Given the description of an element on the screen output the (x, y) to click on. 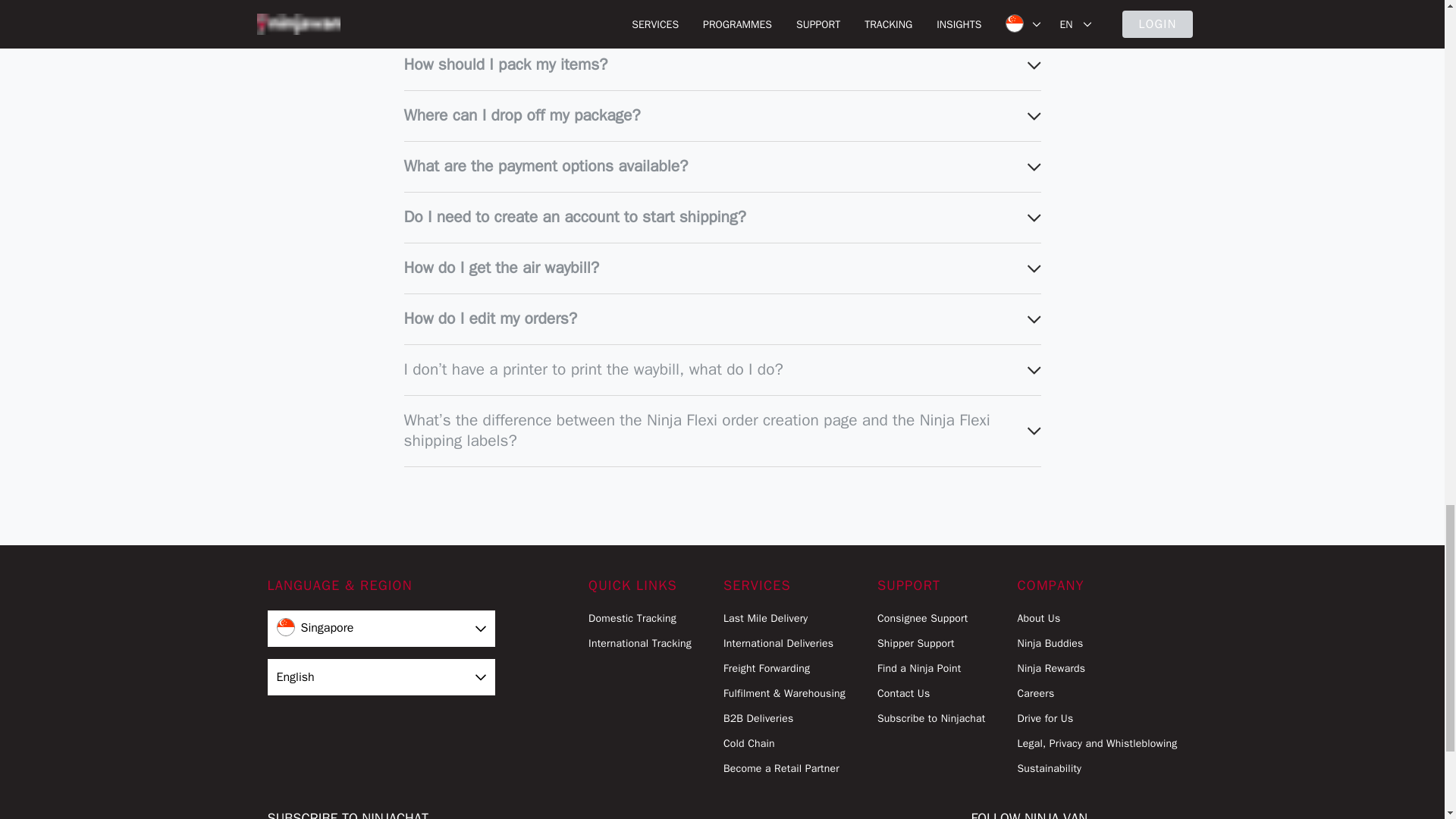
Contact Us (931, 693)
Consignee Support (931, 618)
Domestic Tracking (639, 618)
Cold Chain (784, 743)
International Tracking (639, 643)
Last Mile Delivery (784, 618)
Freight Forwarding (784, 668)
Shipper Support (931, 643)
Singapore (380, 628)
English (380, 677)
B2B Deliveries (784, 718)
Find a Ninja Point (931, 668)
International Deliveries (784, 643)
Become a Retail Partner (784, 768)
